Given the description of an element on the screen output the (x, y) to click on. 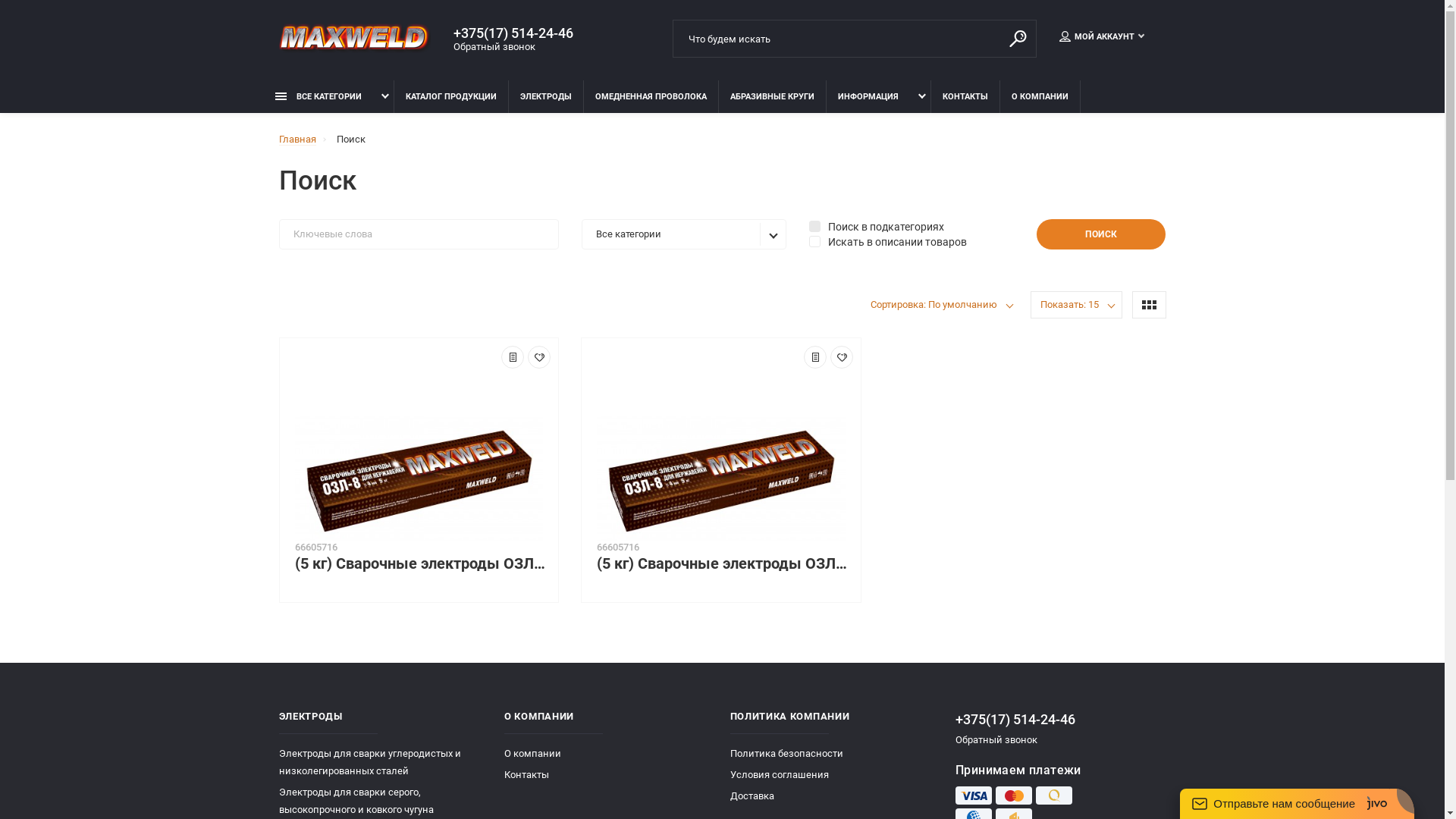
+375(17) 514-24-46 Element type: text (519, 32)
+375(17) 514-24-46 Element type: text (1060, 719)
